Given the description of an element on the screen output the (x, y) to click on. 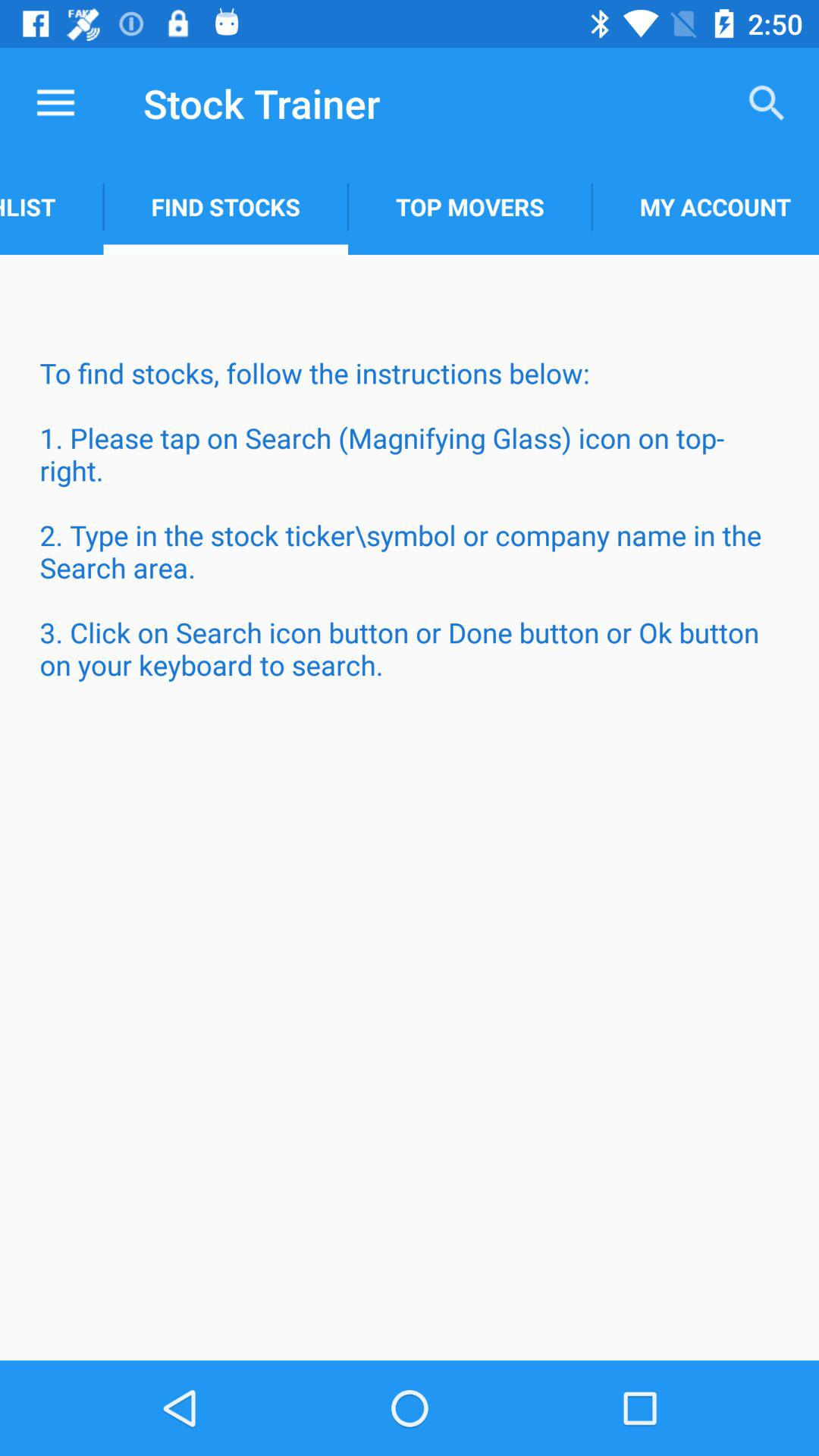
turn off item to the right of the top movers item (705, 206)
